Given the description of an element on the screen output the (x, y) to click on. 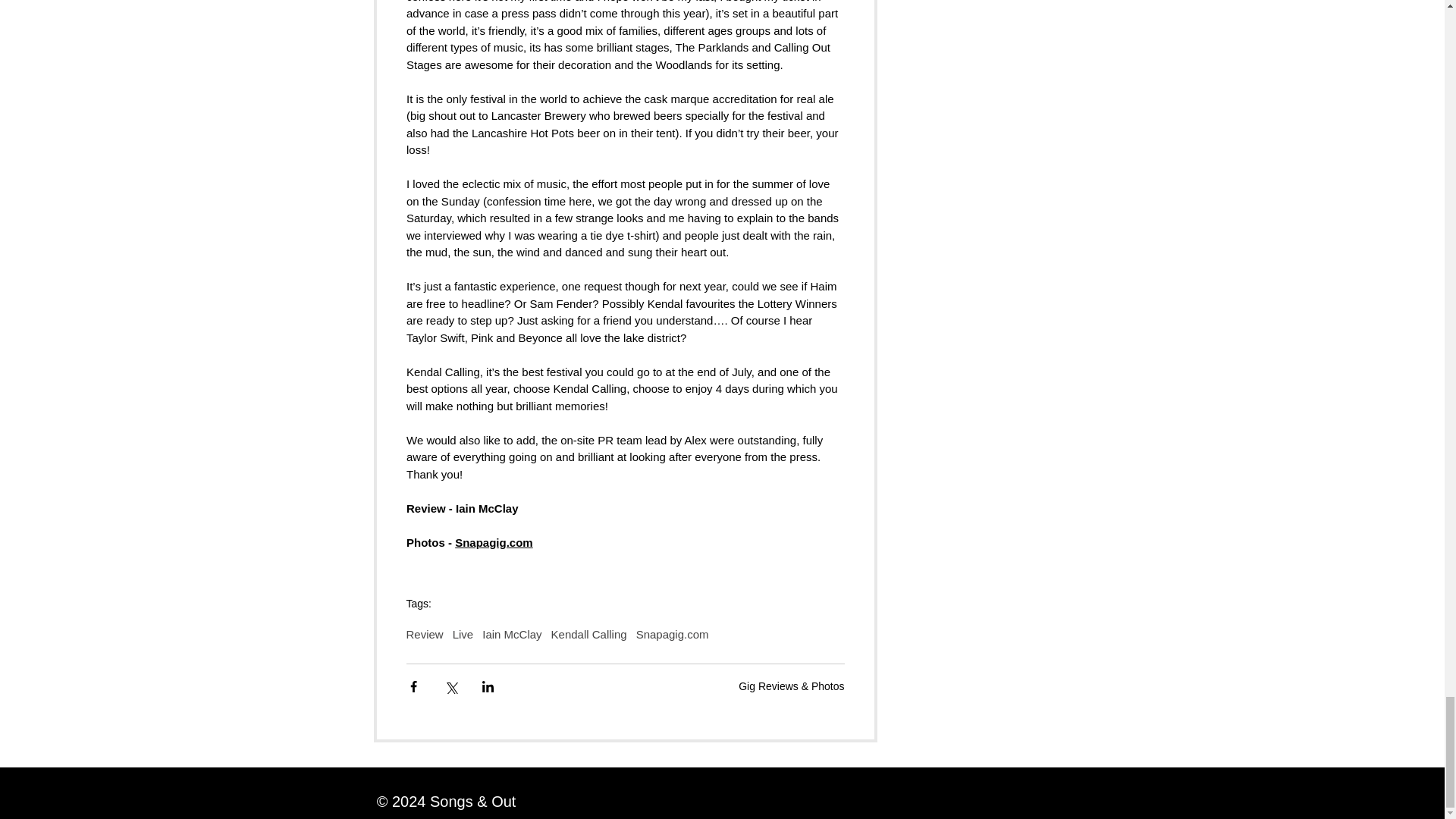
Live (463, 634)
Snapagig.com (493, 542)
Review (425, 634)
Kendall Calling (589, 634)
Iain McClay (511, 634)
Snapagig.com (672, 634)
